Given the description of an element on the screen output the (x, y) to click on. 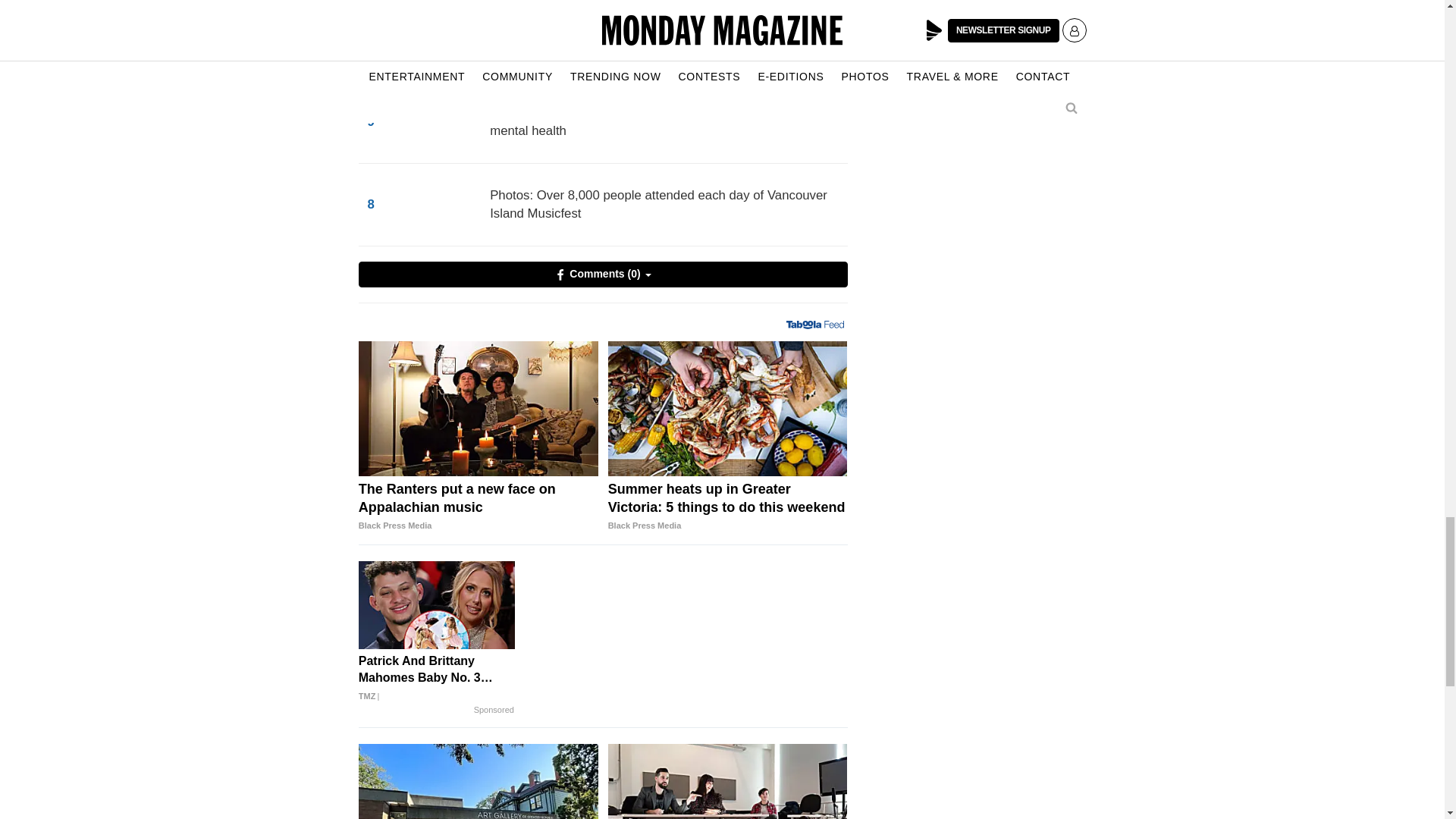
Patrick And Brittany Mahomes Baby No. 3 Gender Reveal (436, 605)
The Ranters put a new face on Appalachian music (478, 408)
The Ranters put a new face on Appalachian music (478, 506)
Show Comments (602, 274)
Patrick And Brittany Mahomes Baby No. 3 Gender Reveal (436, 678)
